Given the description of an element on the screen output the (x, y) to click on. 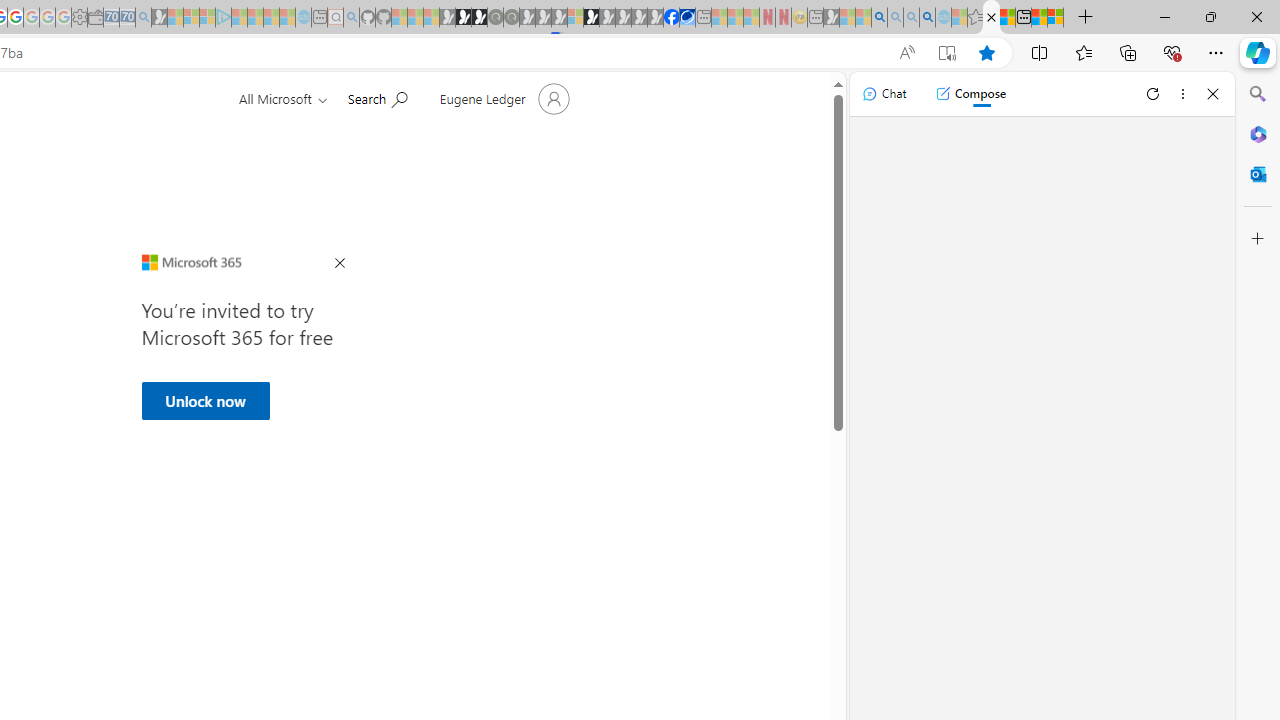
Close Ad (339, 264)
